Given the description of an element on the screen output the (x, y) to click on. 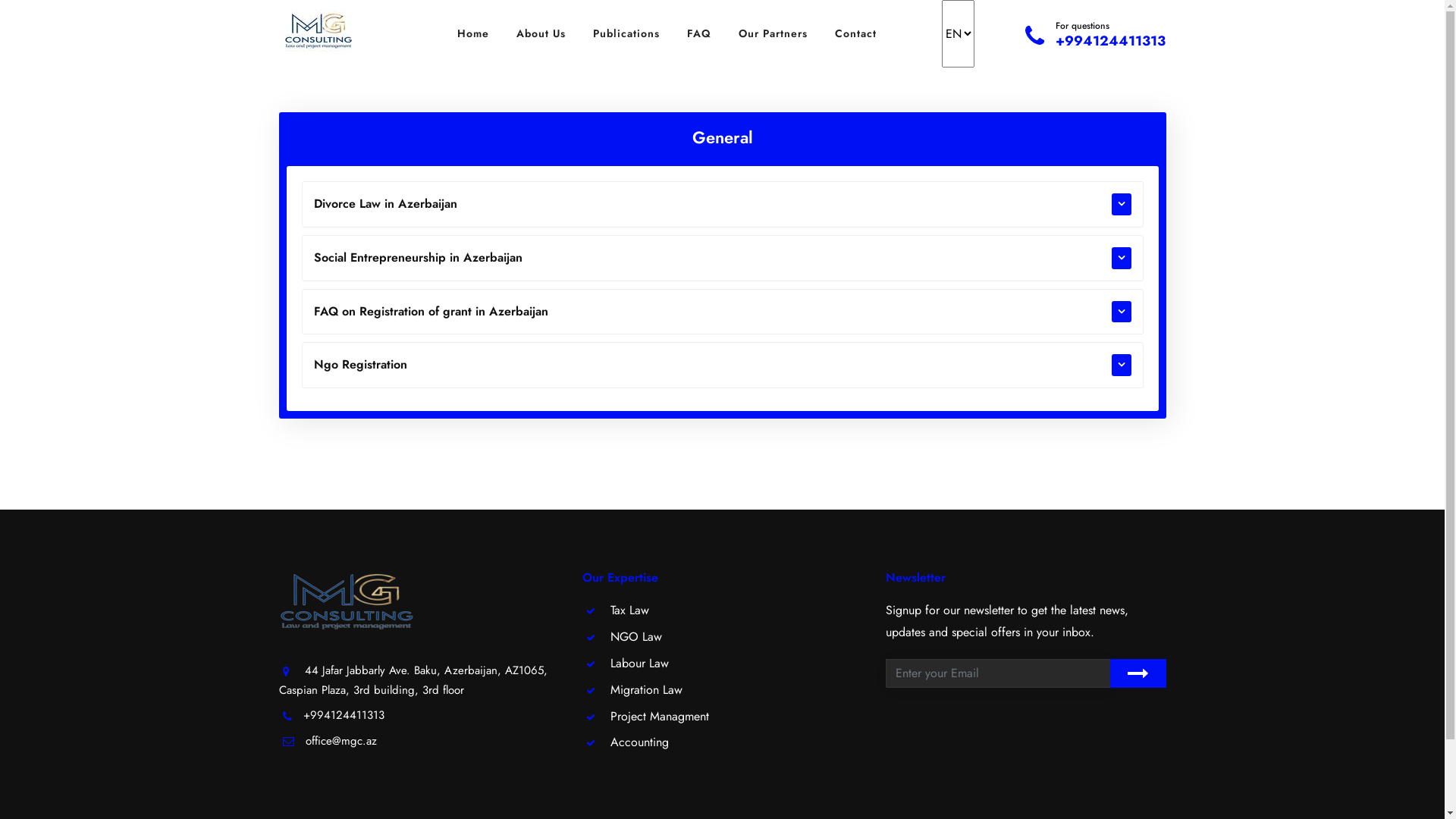
+994124411313 Element type: text (1110, 40)
Home Element type: text (472, 33)
office@mgc.az Element type: text (340, 740)
Our Partners Element type: text (772, 33)
About Us Element type: text (540, 33)
FAQ Element type: text (698, 33)
+994124411313 Element type: text (343, 714)
Publications Element type: text (626, 33)
Contact Element type: text (855, 33)
